Given the description of an element on the screen output the (x, y) to click on. 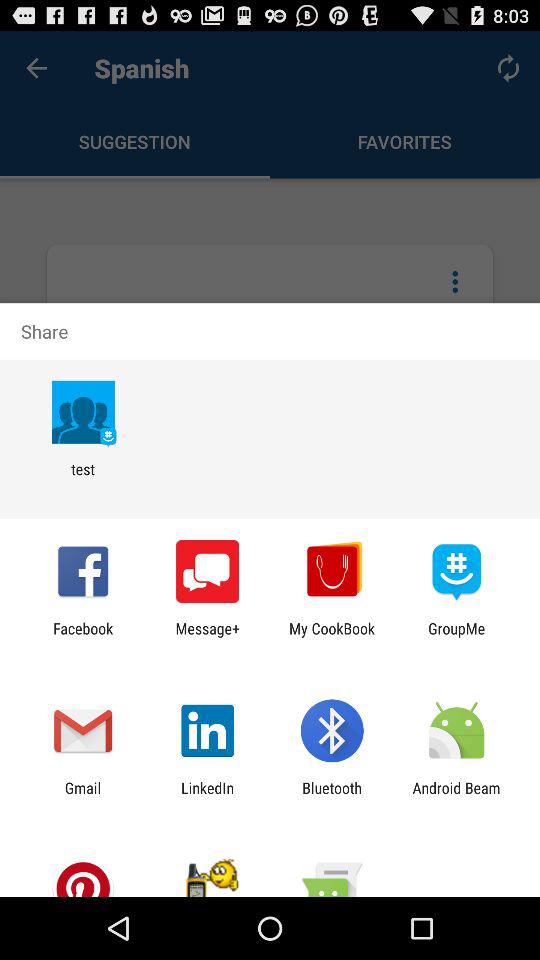
swipe to bluetooth item (331, 796)
